Given the description of an element on the screen output the (x, y) to click on. 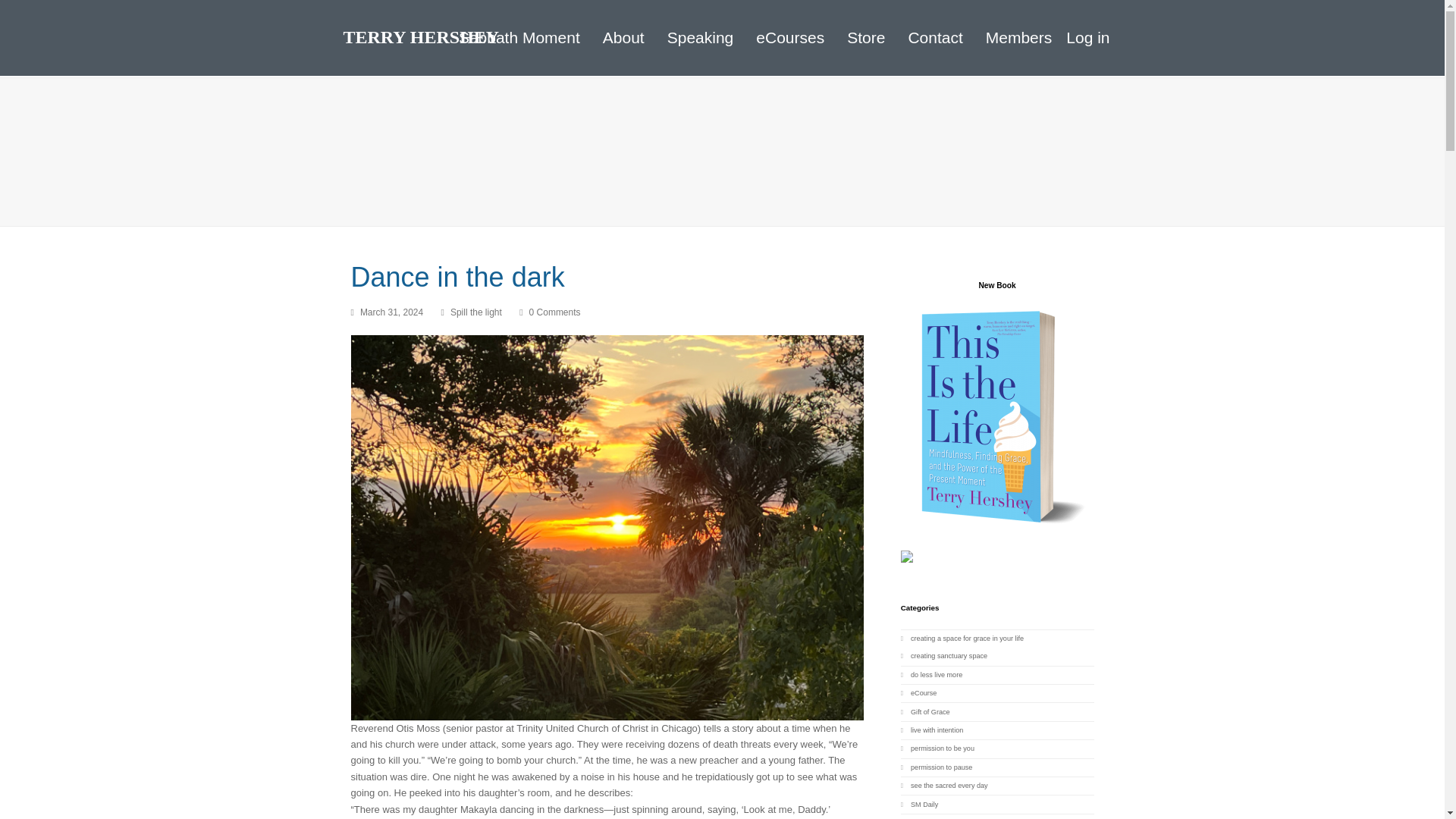
eCourses (789, 37)
Spill the light (475, 312)
Log in (1087, 36)
0 Comments (549, 313)
About (623, 37)
TERRY HERSHEY (420, 36)
Store (865, 37)
0 Comments (554, 312)
Sabbath Moment (518, 37)
Contact (935, 37)
